Given the description of an element on the screen output the (x, y) to click on. 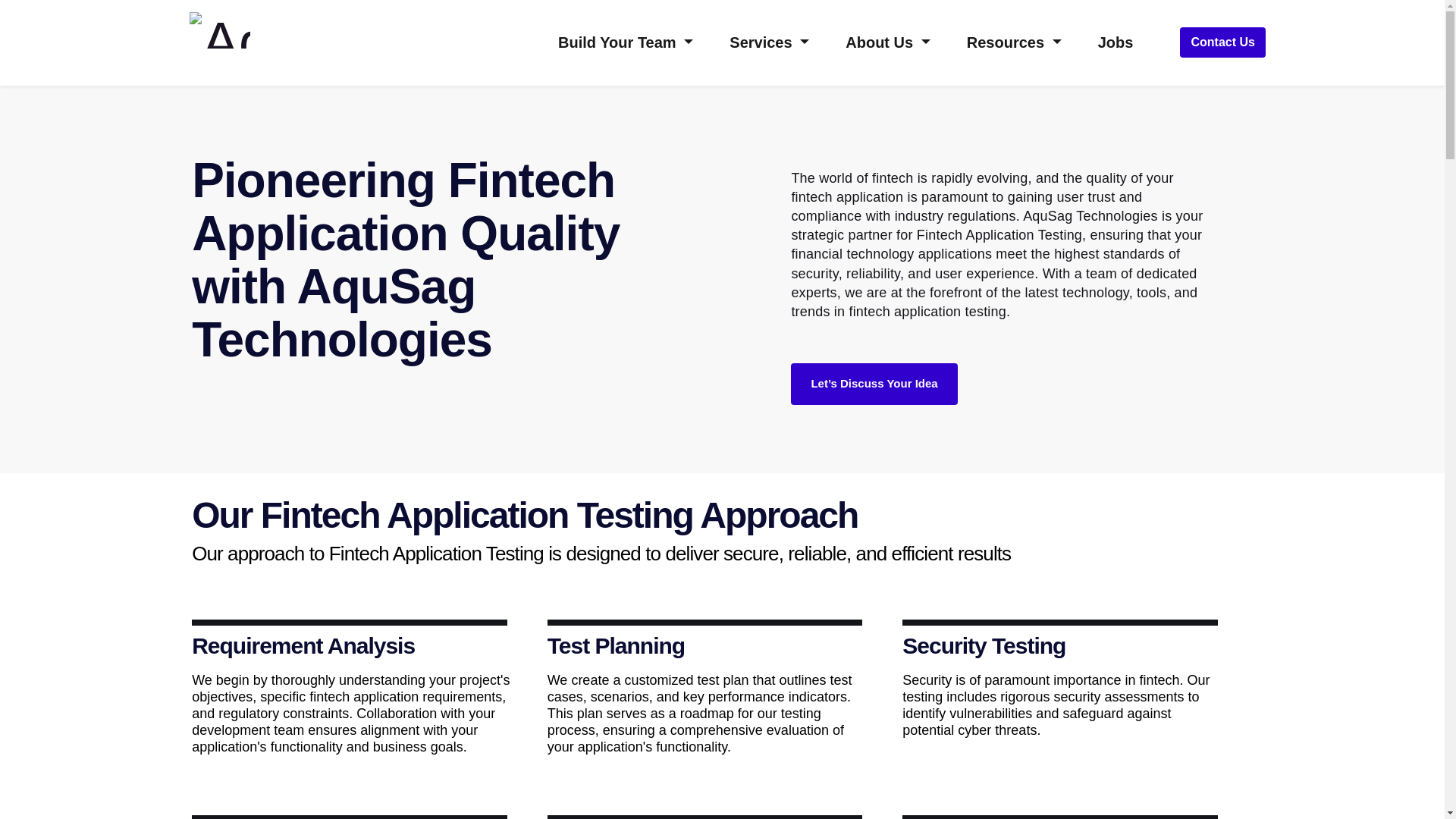
AquSag Technologies (219, 30)
Services (769, 41)
Build Your Team (625, 41)
